Given the description of an element on the screen output the (x, y) to click on. 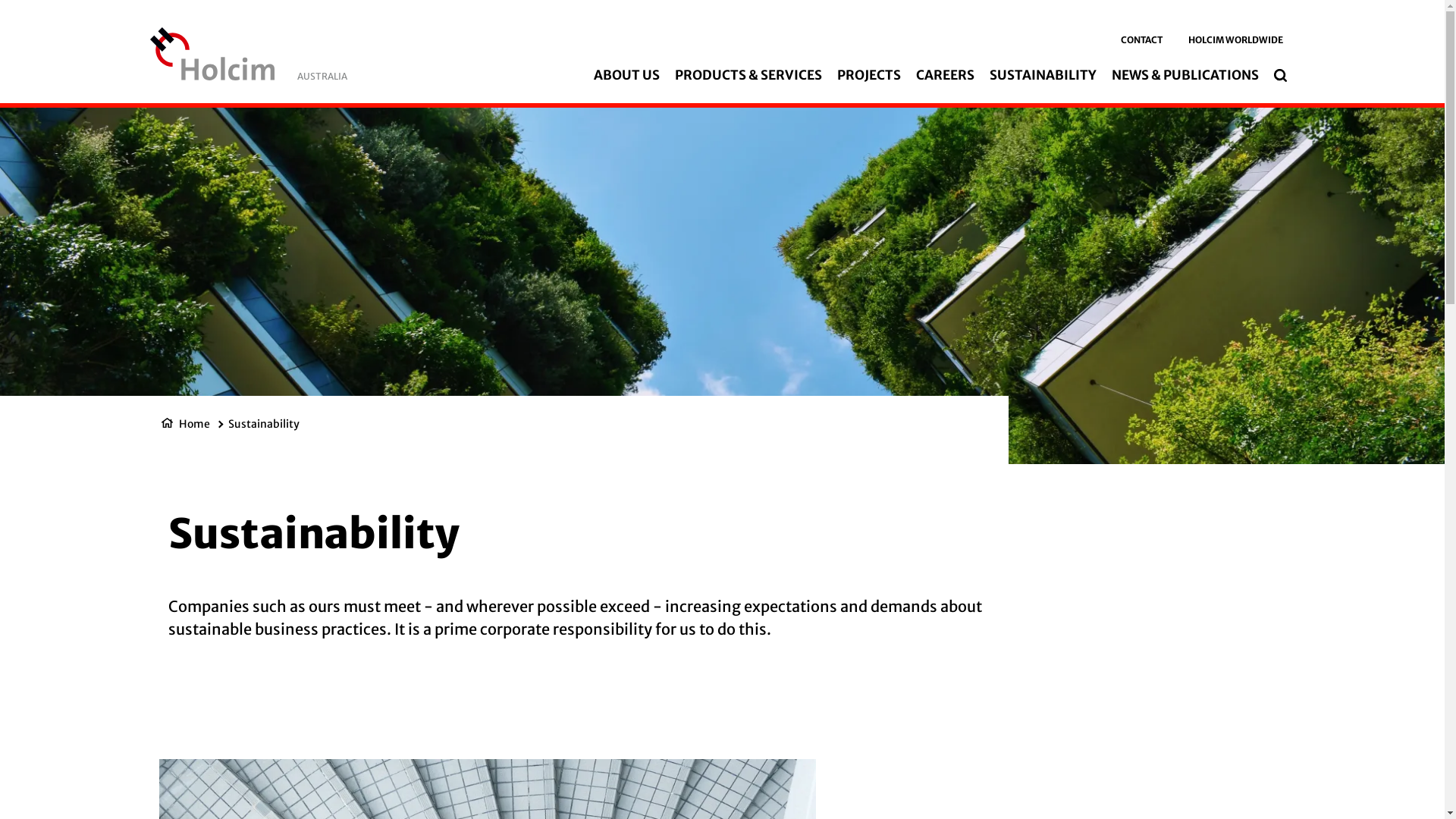
PROJECTS Element type: text (868, 74)
Home Element type: text (194, 423)
PRODUCTS & SERVICES Element type: text (748, 74)
Sustainability Element type: text (262, 423)
CAREERS Element type: text (945, 74)
SUSTAINABILITY Element type: text (1042, 74)
ABOUT US Element type: text (626, 74)
HOLCIM WORLDWIDE Element type: text (1235, 40)
NEWS & PUBLICATIONS Element type: text (1184, 74)
CONTACT Element type: text (1141, 40)
